Given the description of an element on the screen output the (x, y) to click on. 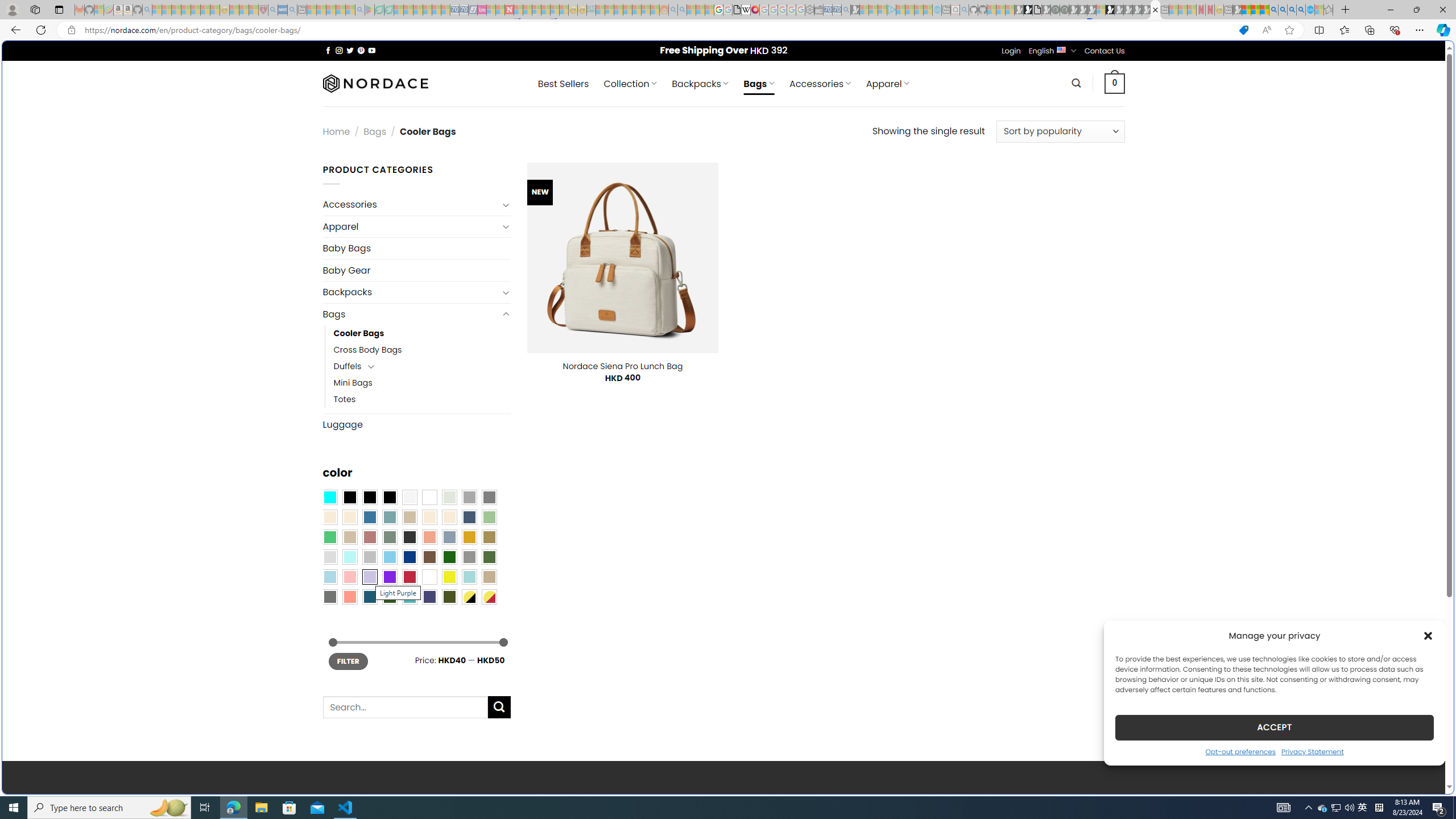
Emerald Green (329, 536)
Pearly White (408, 497)
Beige-Brown (349, 517)
2009 Bing officially replaced Live Search on June 3 - Search (1283, 9)
New tab - Sleeping (1227, 9)
Play Cave FRVR in your browser | Games from Microsoft Start (922, 242)
utah sues federal government - Search - Sleeping (291, 9)
The Weather Channel - MSN - Sleeping (175, 9)
Follow on Facebook (327, 49)
Green (488, 557)
Totes (422, 398)
